Given the description of an element on the screen output the (x, y) to click on. 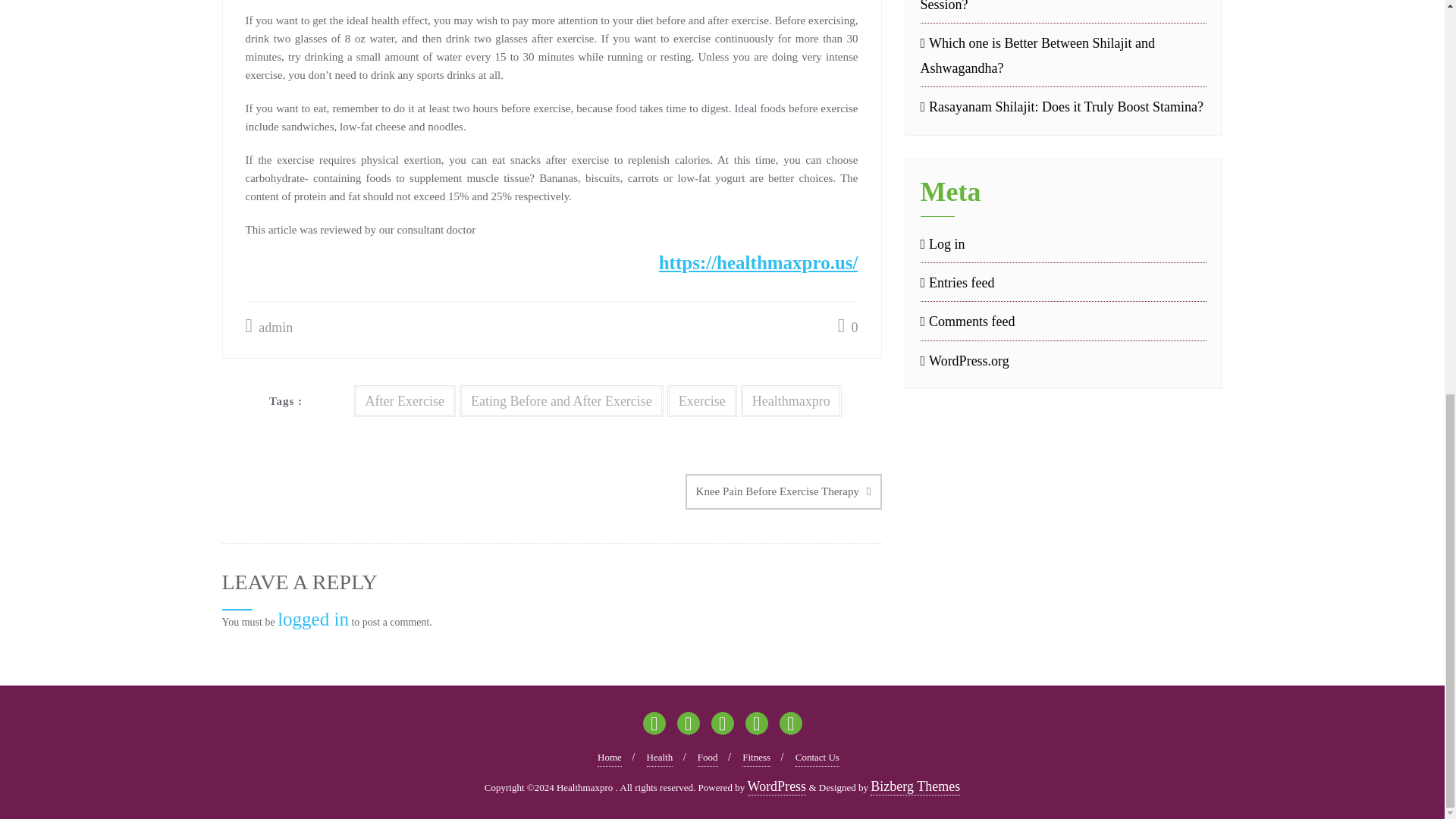
Which one is Better Between Shilajit and Ashwagandha? (1063, 55)
After Exercise (403, 400)
Exercise (701, 400)
Knee Pain Before Exercise Therapy (783, 491)
Eating Before and After Exercise (561, 400)
logged in (313, 619)
What to Expect During a Deep Tissue Massage Session? (1063, 8)
admin (270, 327)
Healthmaxpro (791, 400)
